Given the description of an element on the screen output the (x, y) to click on. 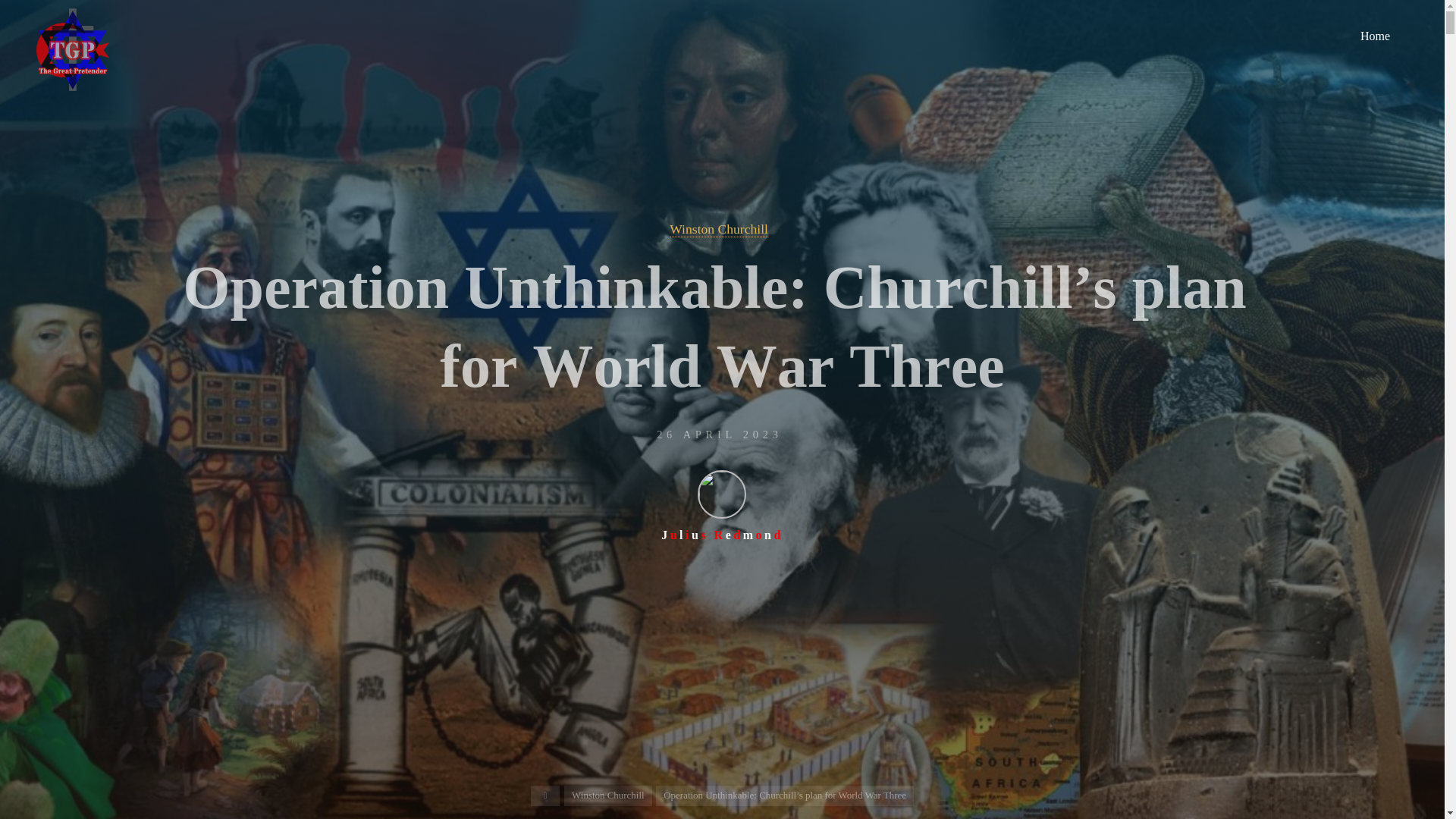
Read more (721, 724)
Julius Redmond (722, 505)
Home (1374, 35)
Winston Churchill (718, 229)
View all posts by Julius Redmond (722, 505)
Home (545, 795)
